Given the description of an element on the screen output the (x, y) to click on. 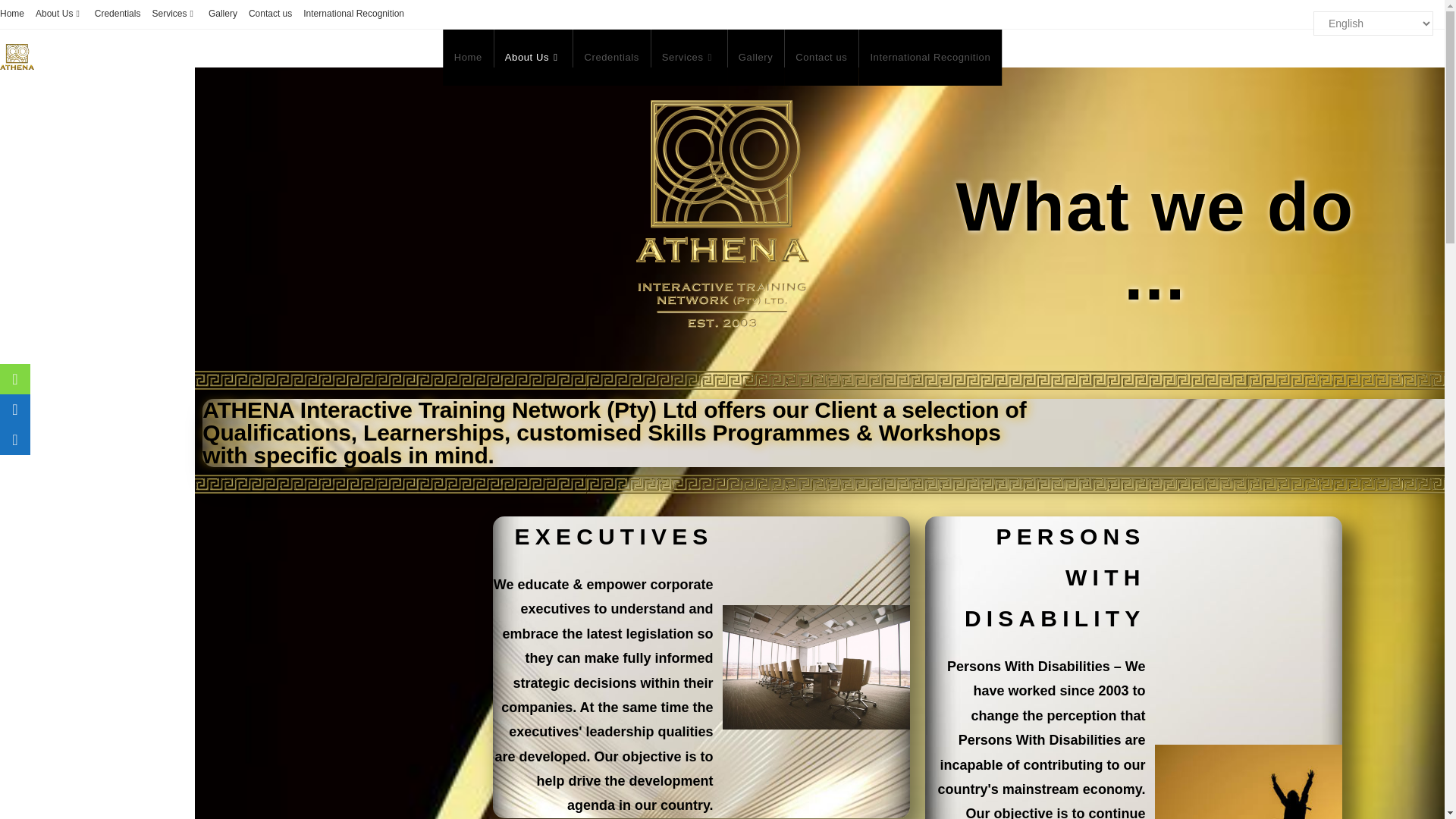
Home (12, 13)
Home (467, 57)
Contact us (270, 13)
Gallery (222, 13)
About Us (533, 57)
Services (173, 13)
International Recognition (353, 13)
About Us (58, 13)
Credentials (117, 13)
